Given the description of an element on the screen output the (x, y) to click on. 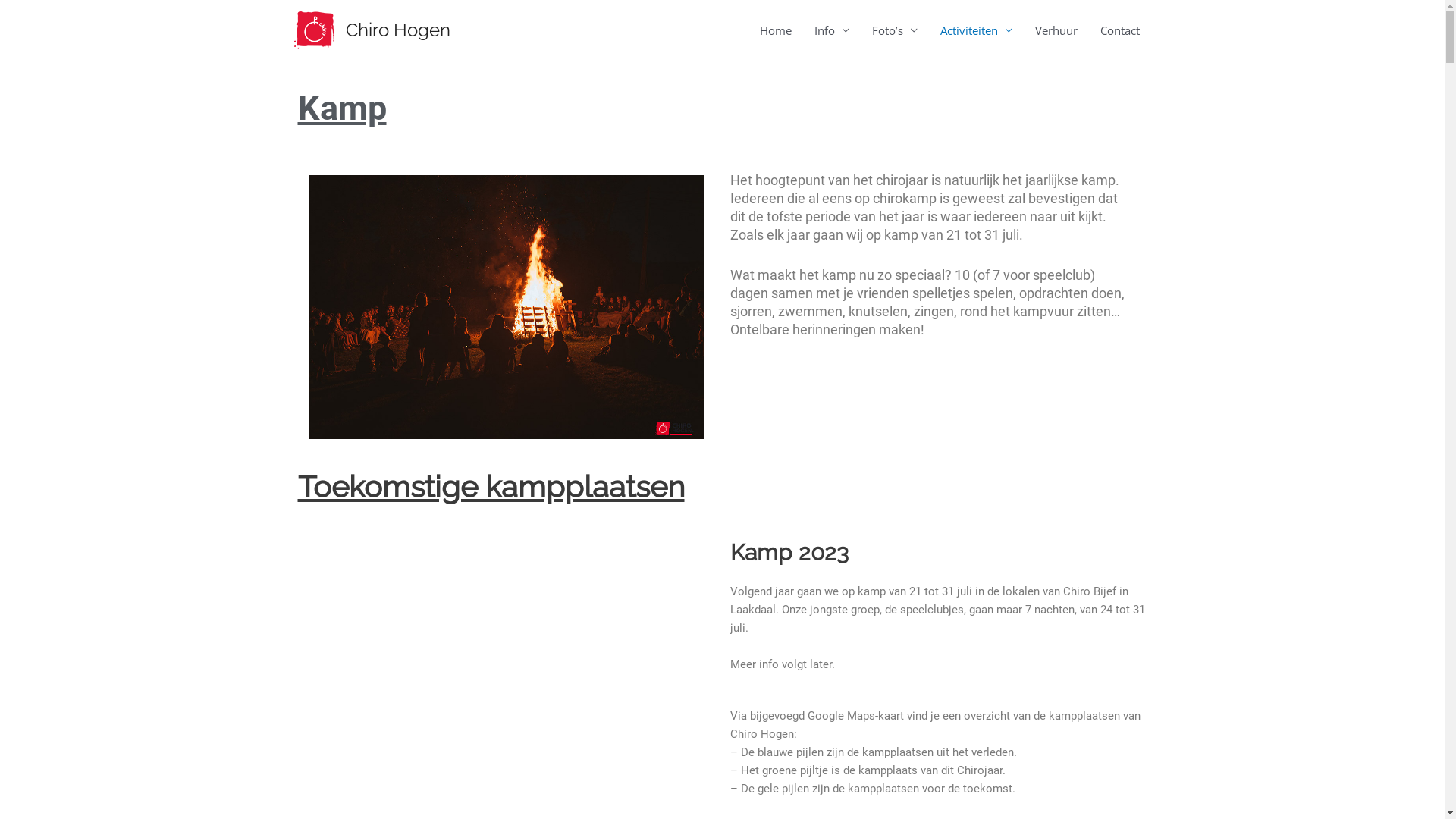
Home Element type: text (774, 30)
Verhuur Element type: text (1055, 30)
Contact Element type: text (1119, 30)
Info Element type: text (830, 30)
Chiro Hogen Element type: text (397, 29)
Activiteiten Element type: text (975, 30)
